Given the description of an element on the screen output the (x, y) to click on. 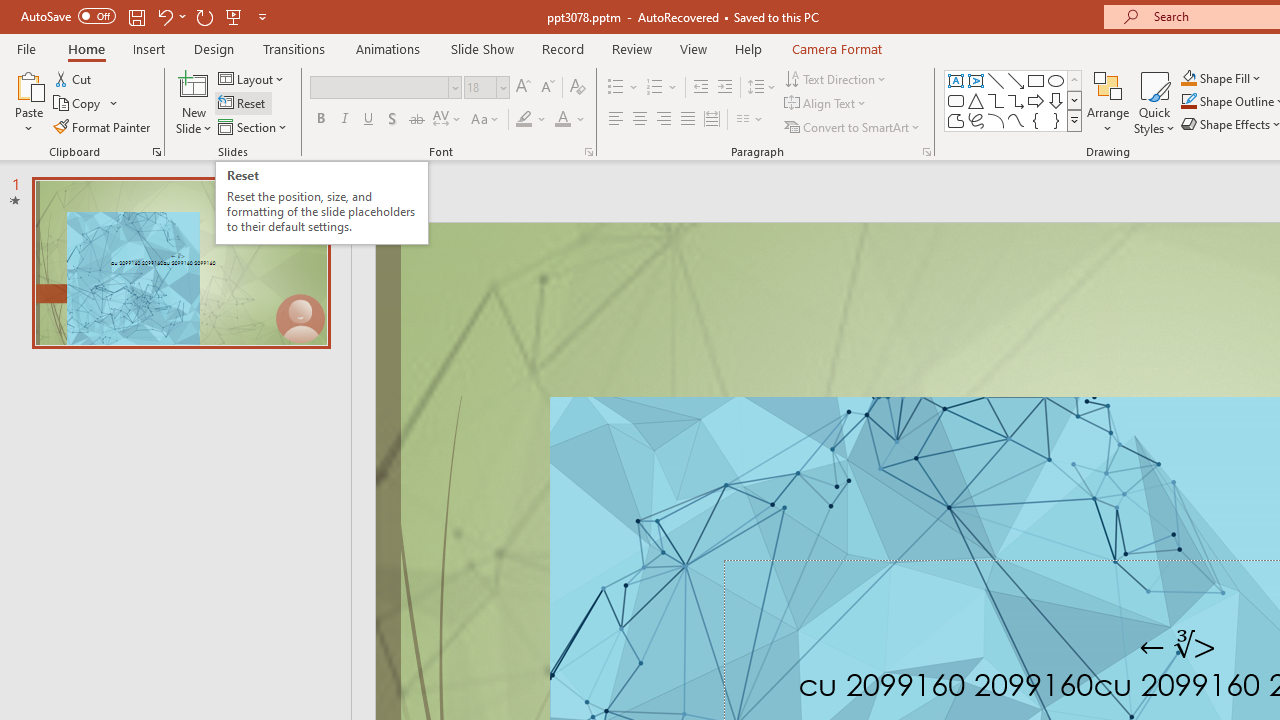
Connector: Elbow (995, 100)
Font (379, 87)
Oval (1055, 80)
Clear Formatting (577, 87)
Freeform: Scribble (975, 120)
Copy (78, 103)
Distributed (712, 119)
Connector: Elbow Arrow (1016, 100)
Justify (687, 119)
Bullets (616, 87)
